Given the description of an element on the screen output the (x, y) to click on. 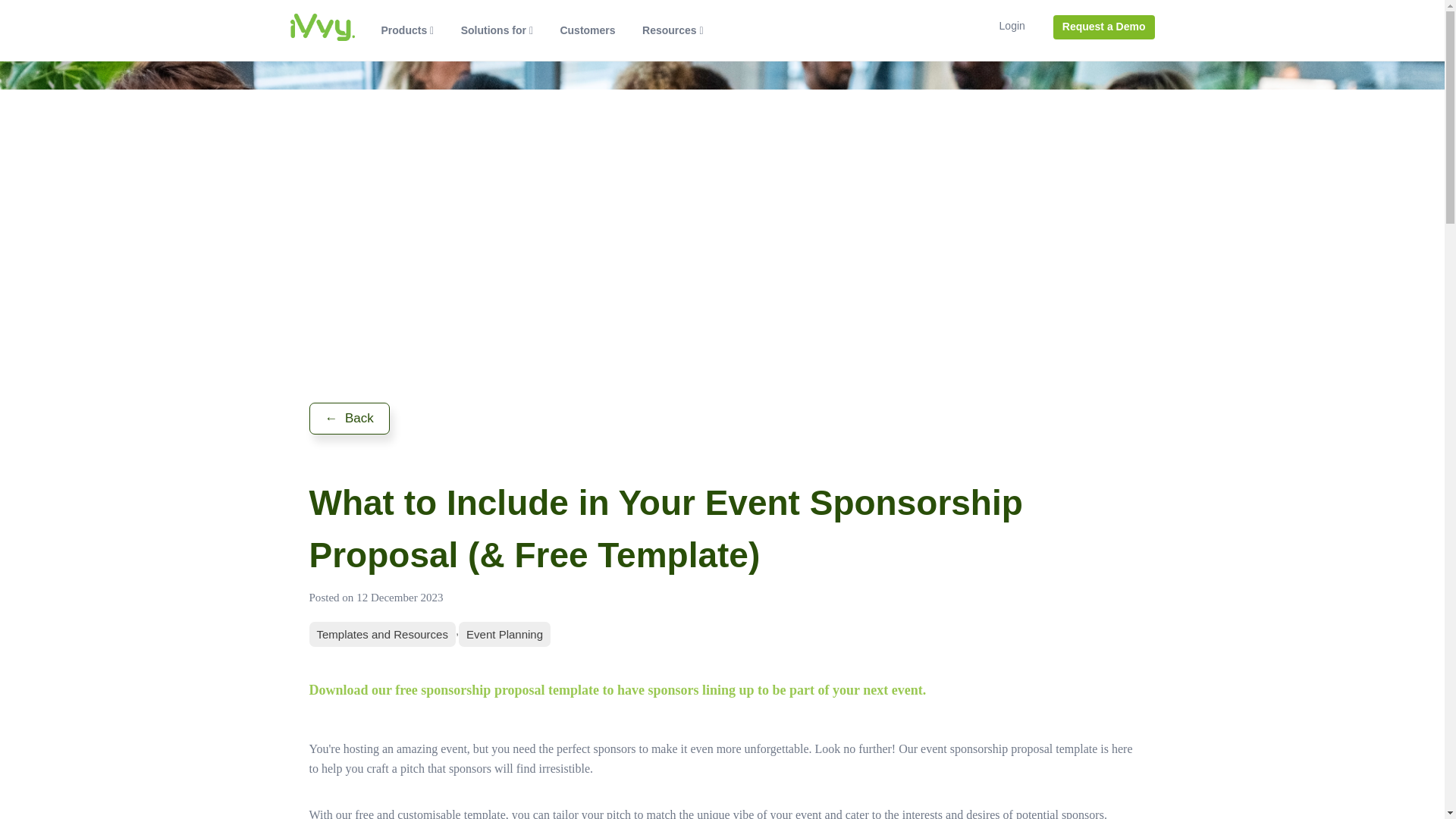
Products (407, 30)
Customers (587, 30)
Solutions for (496, 30)
Resources (673, 30)
Request a Demo (1103, 27)
